Given the description of an element on the screen output the (x, y) to click on. 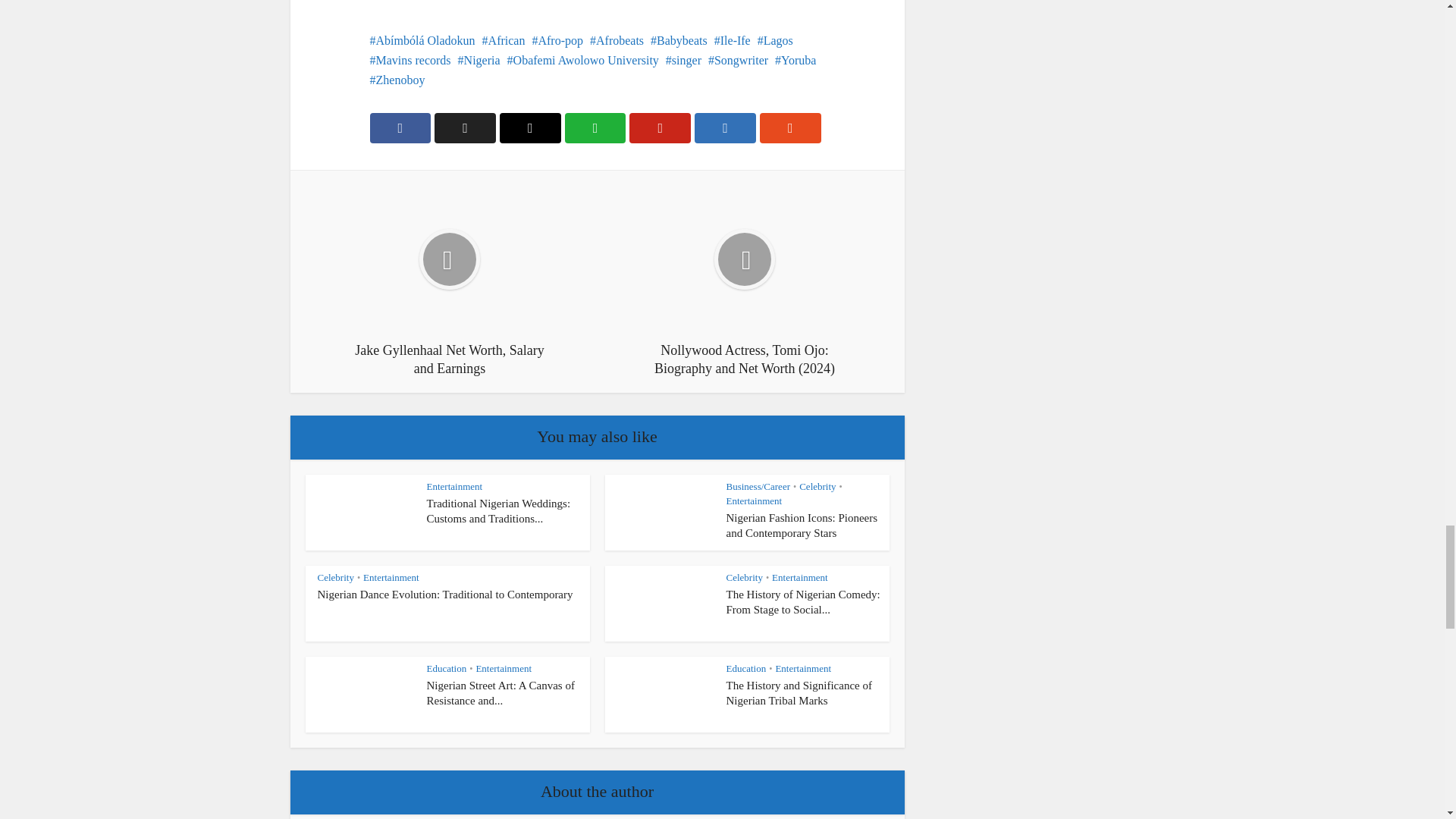
Nigerian Fashion Icons: Pioneers and Contemporary Stars (801, 524)
Nigerian Street Art: A Canvas of Resistance and Expression (499, 692)
Afrobeats (616, 40)
Nigerian Dance Evolution: Traditional to Contemporary (444, 594)
The History of Nigerian Comedy: From Stage to Social Media (803, 601)
Babybeats (678, 40)
Afro-pop (557, 40)
The History and Significance of Nigerian Tribal Marks (799, 692)
African (503, 40)
